Given the description of an element on the screen output the (x, y) to click on. 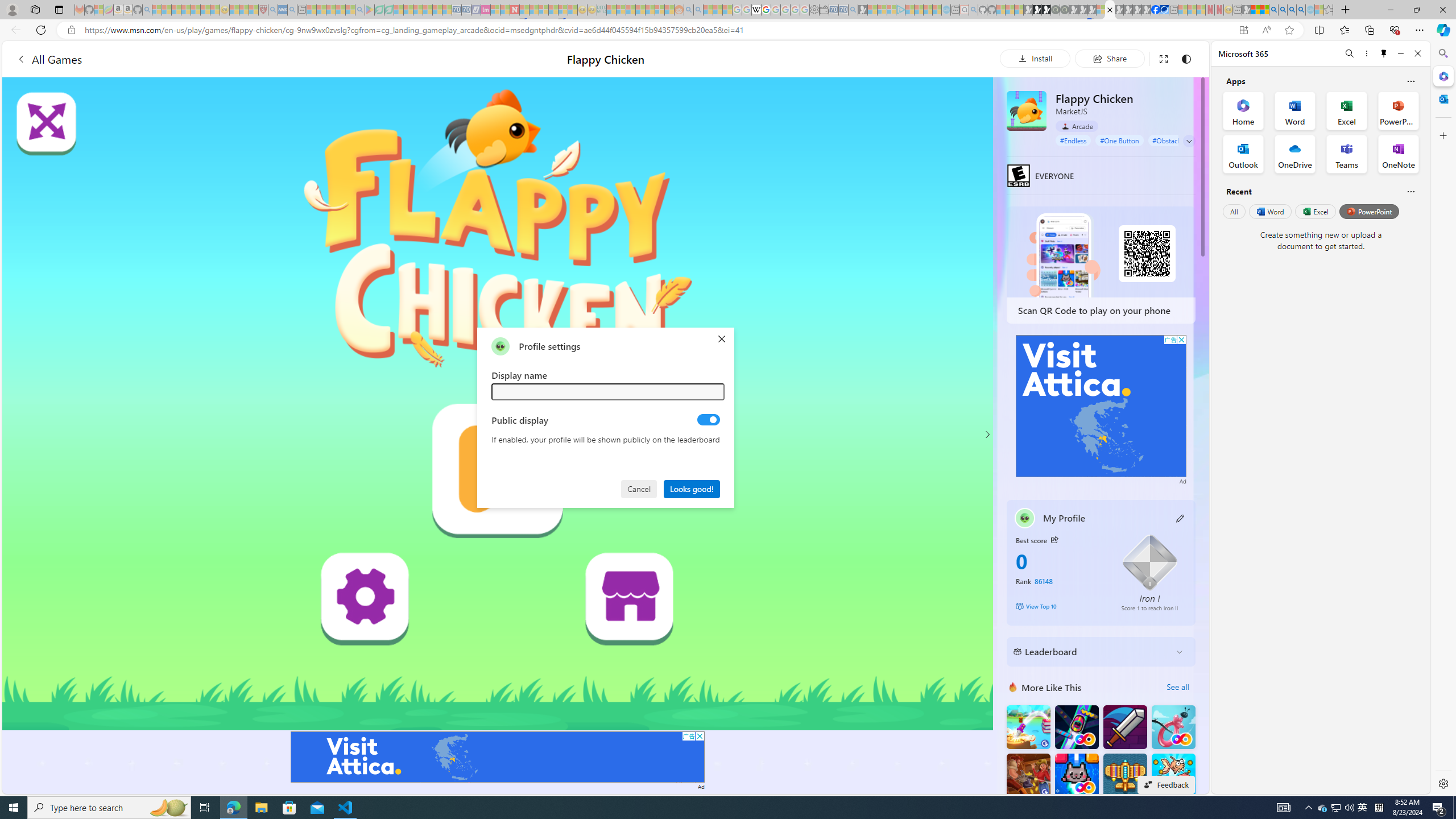
Bing Real Estate - Home sales and rental listings - Sleeping (853, 9)
Home Office App (1243, 110)
#Endless (1073, 140)
Excel (1315, 210)
AutomationID: canvas (497, 403)
OneDrive Office App (1295, 154)
Jobs - lastminute.com Investor Portal - Sleeping (485, 9)
Microsoft Start Gaming - Sleeping (862, 9)
#One Button (1119, 140)
Teams Office App (1346, 154)
